Given the description of an element on the screen output the (x, y) to click on. 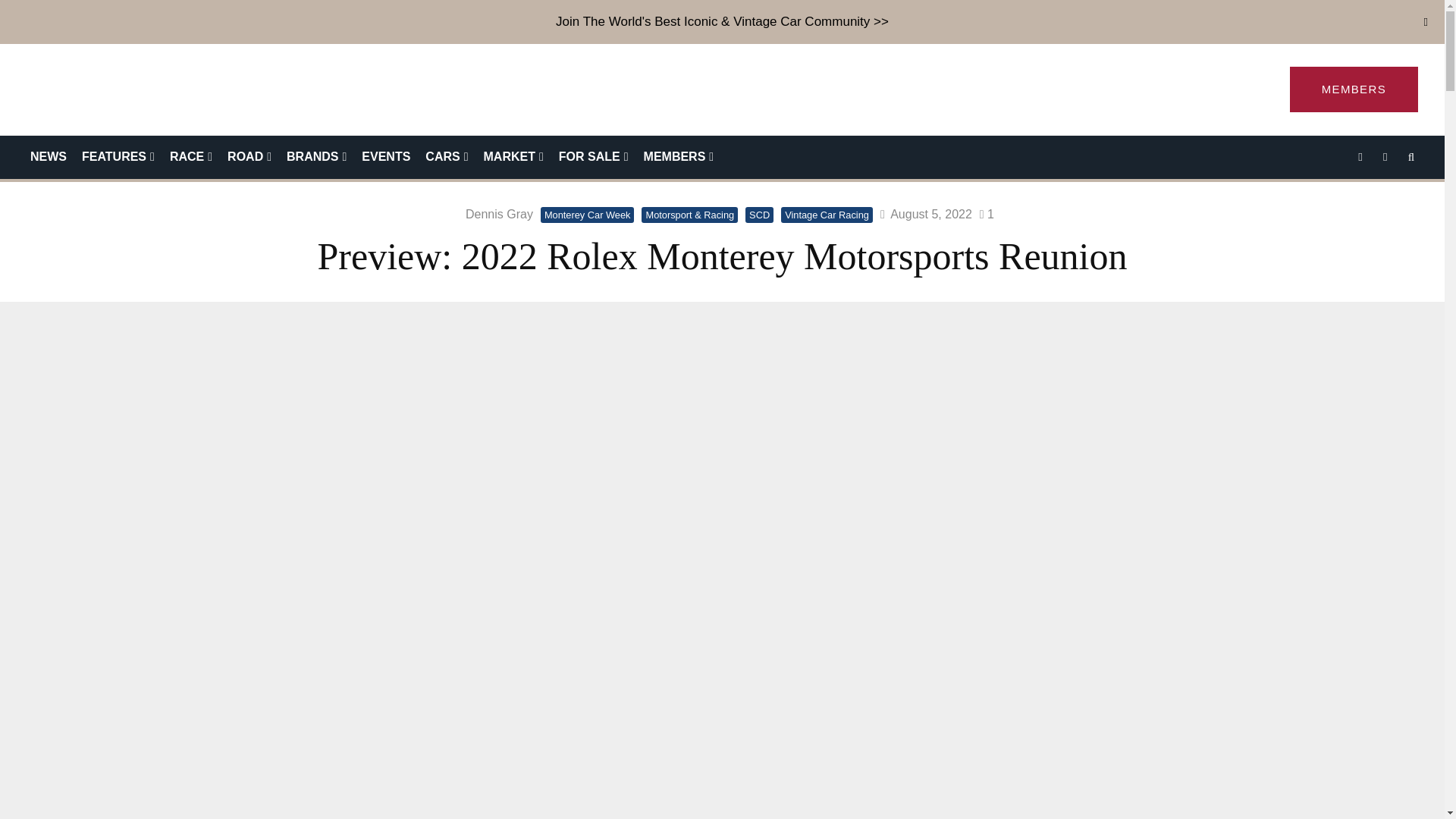
RACE (190, 157)
NEWS (48, 157)
FEATURES (117, 157)
MEMBERS (1354, 89)
